Given the description of an element on the screen output the (x, y) to click on. 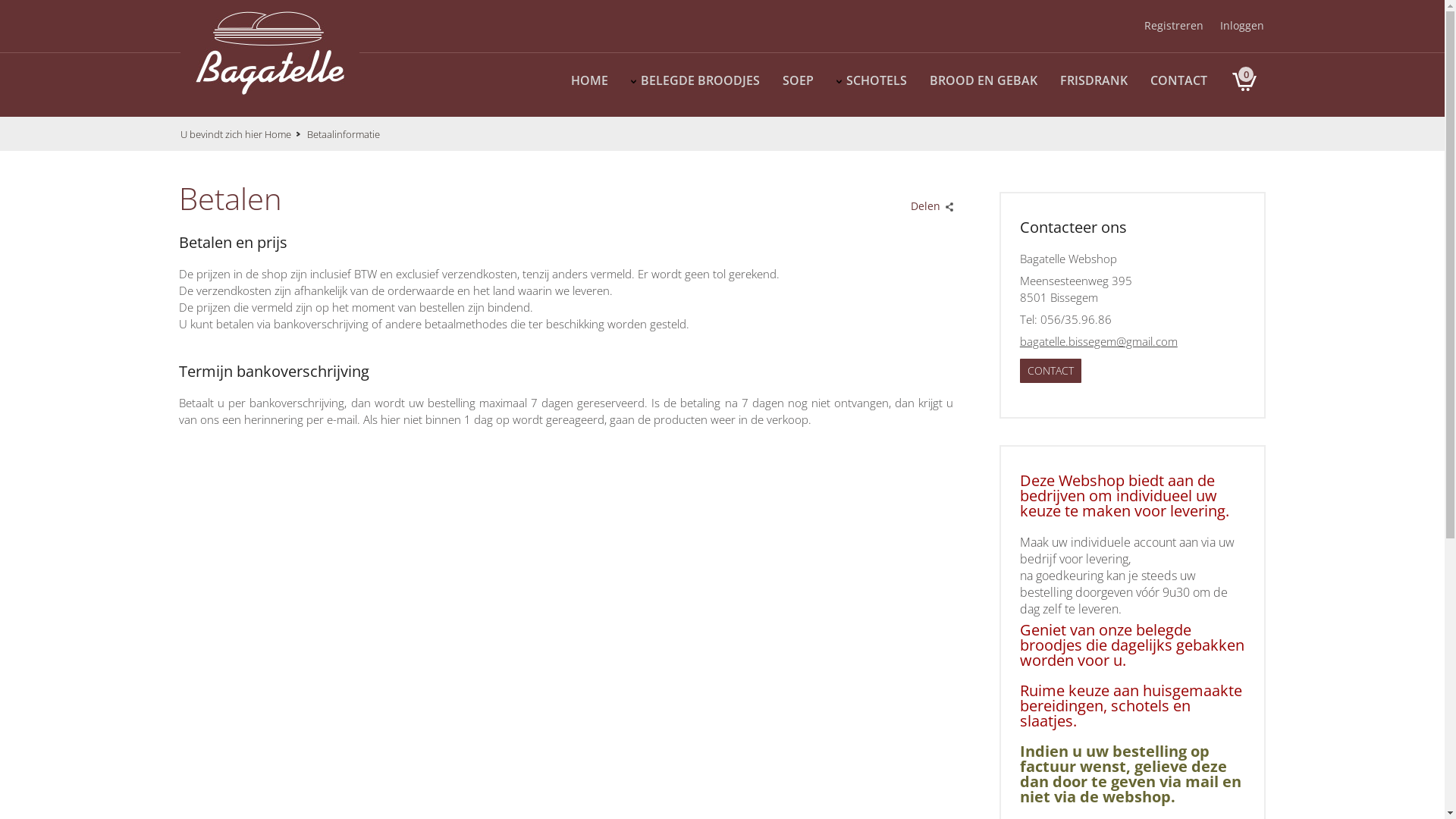
CONTACT Element type: text (1178, 79)
BELEGDE BROODJES Element type: text (699, 79)
Home Element type: text (284, 134)
SOEP Element type: text (797, 79)
HOME Element type: text (589, 79)
Bagatelle Webshop Element type: hover (269, 52)
Inloggen Element type: text (1242, 25)
Registreren Element type: text (1173, 25)
FRISDRANK Element type: text (1093, 79)
BROOD EN GEBAK Element type: text (983, 79)
bagatelle.bissegem@gmail.com Element type: text (1098, 340)
SCHOTELS Element type: text (876, 79)
0 Element type: text (1243, 78)
Delen Element type: text (928, 201)
CONTACT Element type: text (1050, 370)
